Given the description of an element on the screen output the (x, y) to click on. 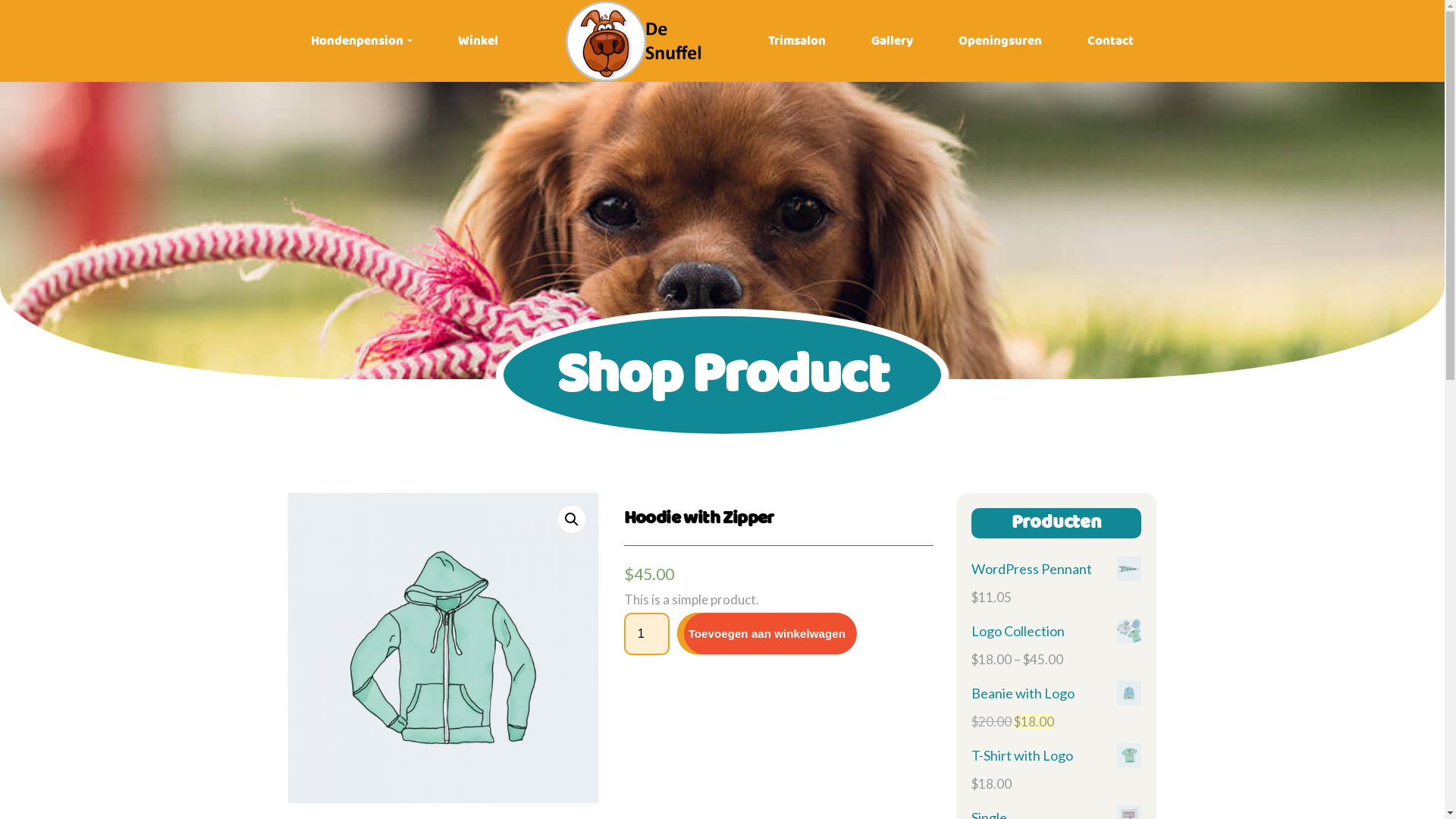
hoodie-with-zipper-2.jpg Element type: hover (443, 647)
WordPress Pennant Element type: text (1056, 569)
Contact Element type: text (1110, 40)
Hondenpension Element type: text (361, 40)
Logo Collection Element type: text (1056, 631)
Gallery Element type: text (891, 40)
Winkel Element type: text (477, 40)
T-Shirt with Logo Element type: text (1056, 755)
Toevoegen aan winkelwagen Element type: text (766, 633)
Qty Element type: hover (646, 633)
Openingsuren Element type: text (999, 40)
Beanie with Logo Element type: text (1056, 693)
Trimsalon Element type: text (796, 40)
